Given the description of an element on the screen output the (x, y) to click on. 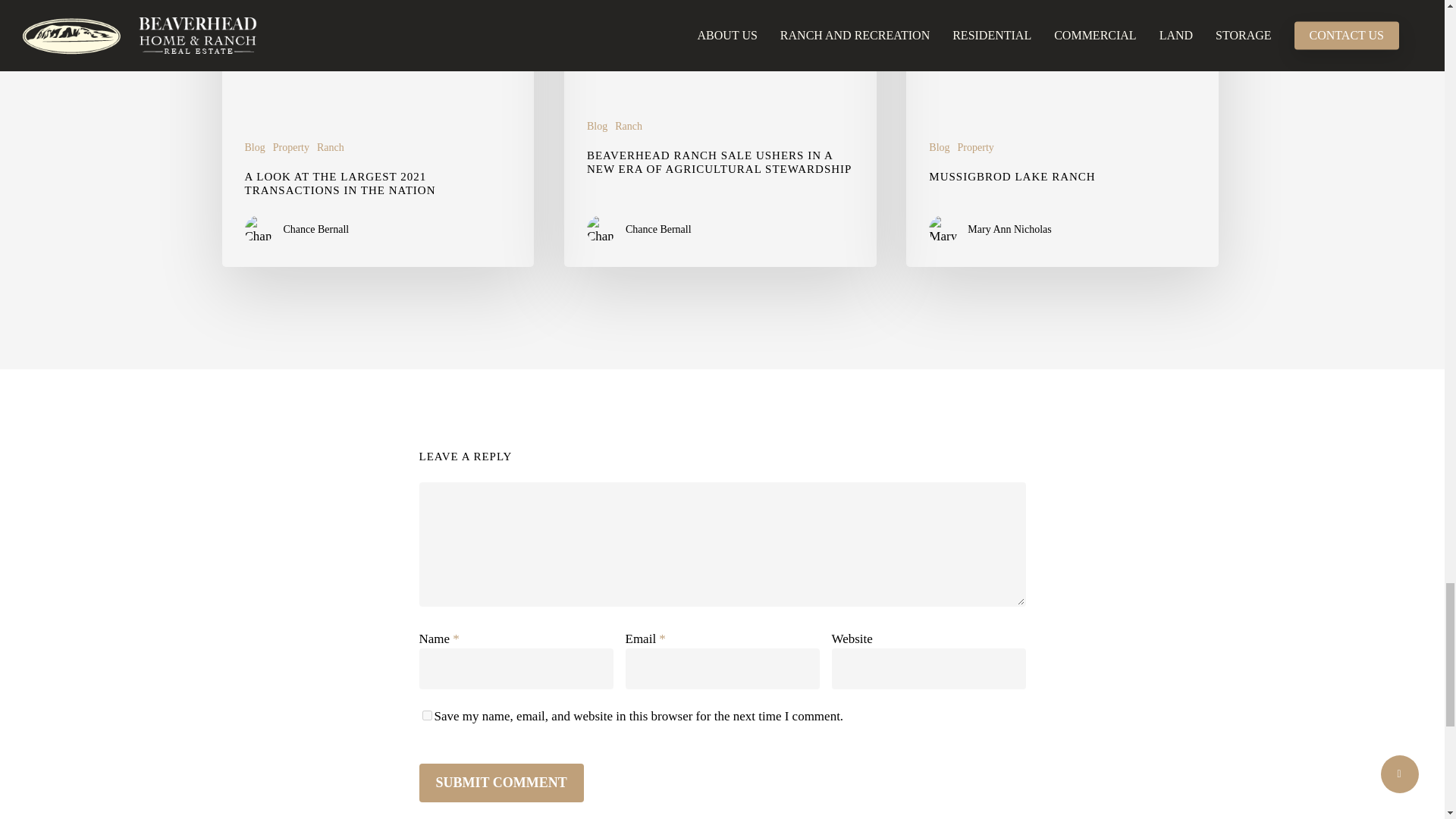
Property (290, 147)
Ranch (628, 125)
Chance Bernall (316, 229)
Submit Comment (501, 782)
Blog (596, 125)
Blog (254, 147)
Ranch (330, 147)
yes (426, 715)
Chance Bernall (658, 229)
